Given the description of an element on the screen output the (x, y) to click on. 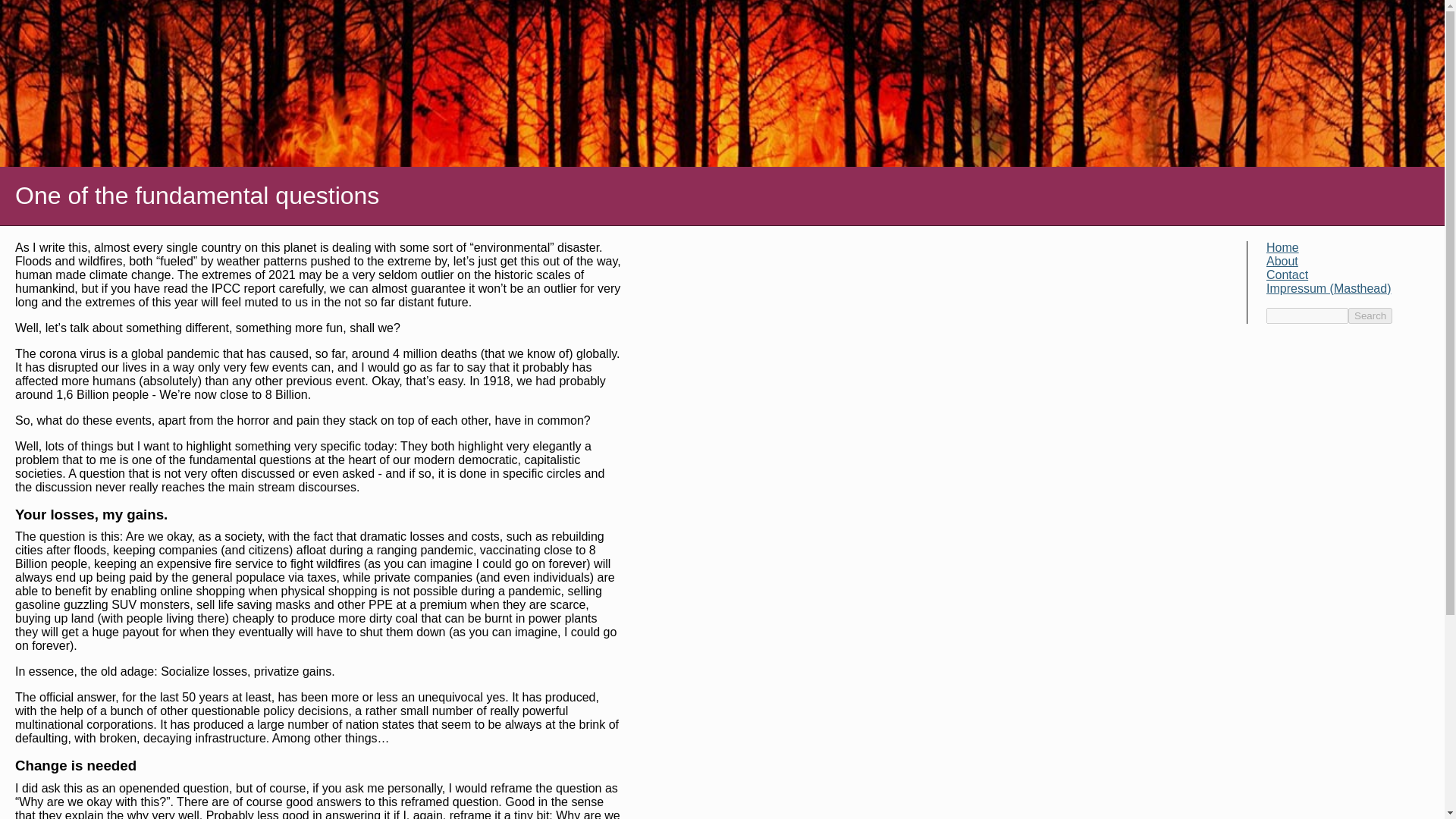
Search (1369, 315)
search text (1307, 315)
Contact (1286, 274)
Click to get back to home page (721, 195)
Home (1282, 246)
One of the fundamental questions (721, 195)
About (1282, 260)
start search (1369, 315)
